Given the description of an element on the screen output the (x, y) to click on. 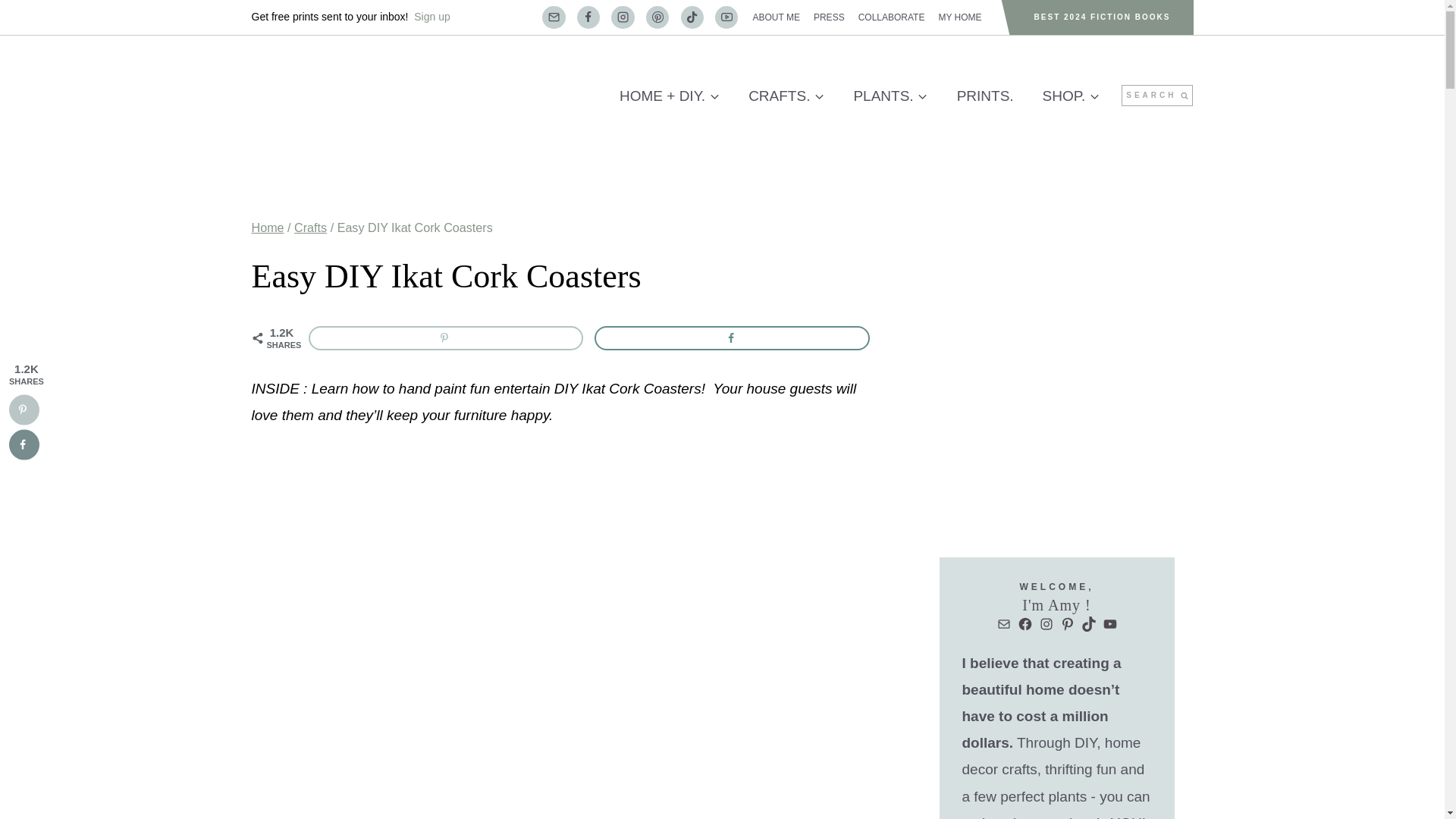
MY HOME (959, 17)
Share on Facebook (731, 337)
COLLABORATE (891, 17)
Shop (1071, 95)
Sign up (431, 16)
BEST 2024 FICTION BOOKS (1102, 17)
SHOP. (1071, 95)
PLANTS. (890, 95)
PRINTS. (984, 95)
PRESS (828, 17)
Save to Pinterest (445, 337)
ABOUT ME (775, 17)
CRAFTS. (785, 95)
All Things DIY (669, 95)
